Given the description of an element on the screen output the (x, y) to click on. 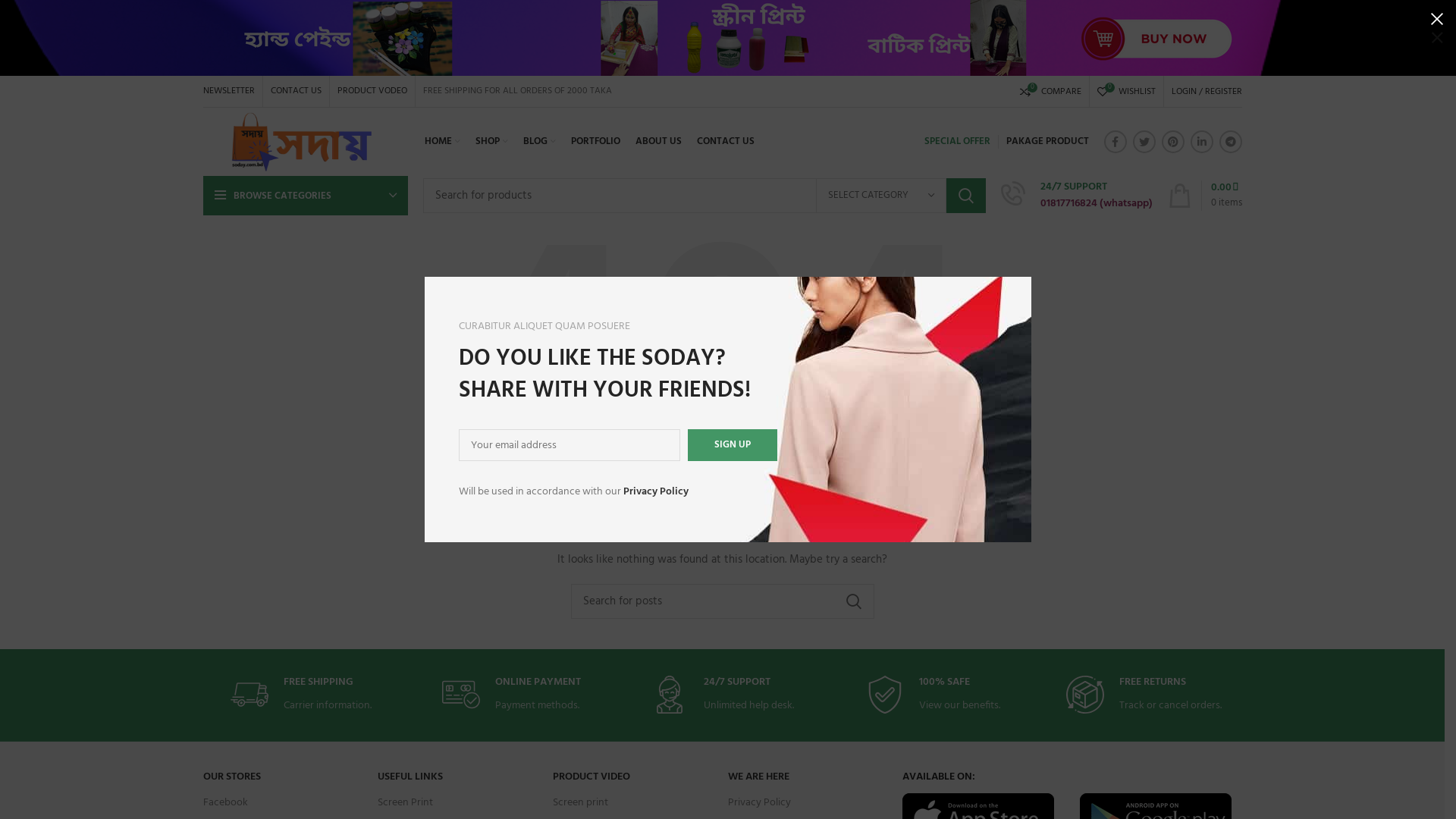
FREE SHIPPING
Carrier information. Element type: text (300, 694)
PORTFOLIO Element type: text (594, 141)
SEARCH Element type: text (965, 195)
Screen print Element type: text (632, 802)
24/7 SUPPORT
01817716824 (whatsapp) Element type: text (1076, 195)
SPECIAL OFFER Element type: text (956, 141)
ONLINE PAYMENT
Payment methods. Element type: text (511, 694)
BLOG Element type: text (539, 141)
NEWSLETTER Element type: text (228, 90)
24/7 SUPPORT
Unlimited help desk. Element type: text (721, 694)
Sign up Element type: text (732, 445)
Facebook Element type: text (283, 802)
0
WISHLIST Element type: text (1125, 90)
Privacy Policy Element type: text (808, 802)
SHOP Element type: text (490, 141)
0
COMPARE Element type: text (1049, 90)
Screen Print Element type: text (457, 802)
SEARCH Element type: text (853, 600)
Search for products Element type: hover (704, 195)
LOGIN / REGISTER Element type: text (1205, 90)
CONTACT US Element type: text (724, 141)
100% SAFE
View our benefits. Element type: text (933, 694)
ABOUT US Element type: text (658, 141)
PRODUCT VIDEO Element type: text (632, 777)
USEFUL LINKS Element type: text (457, 777)
PAKAGE PRODUCT Element type: text (1046, 141)
Search for posts Element type: hover (721, 600)
HOME Element type: text (442, 141)
PRODUCT VODEO Element type: text (371, 90)
CONTACT US Element type: text (295, 90)
WE ARE HERE Element type: text (808, 777)
FREE RETURNS
Track or cancel orders. Element type: text (1143, 694)
Privacy Policy Element type: text (655, 491)
OUR STORES Element type: text (283, 777)
SELECT CATEGORY Element type: text (880, 195)
